Given the description of an element on the screen output the (x, y) to click on. 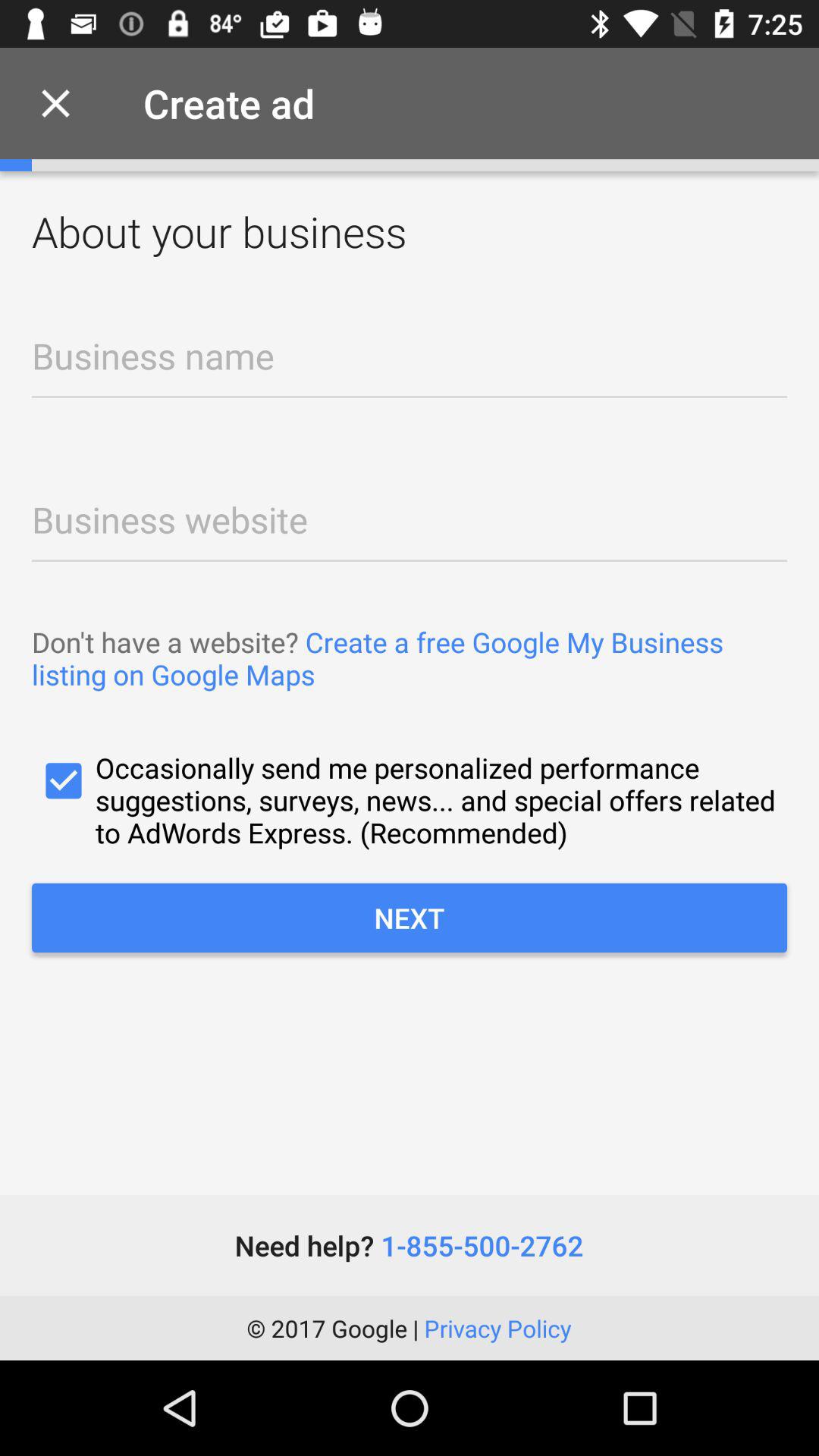
scroll to need help 1 (408, 1245)
